Given the description of an element on the screen output the (x, y) to click on. 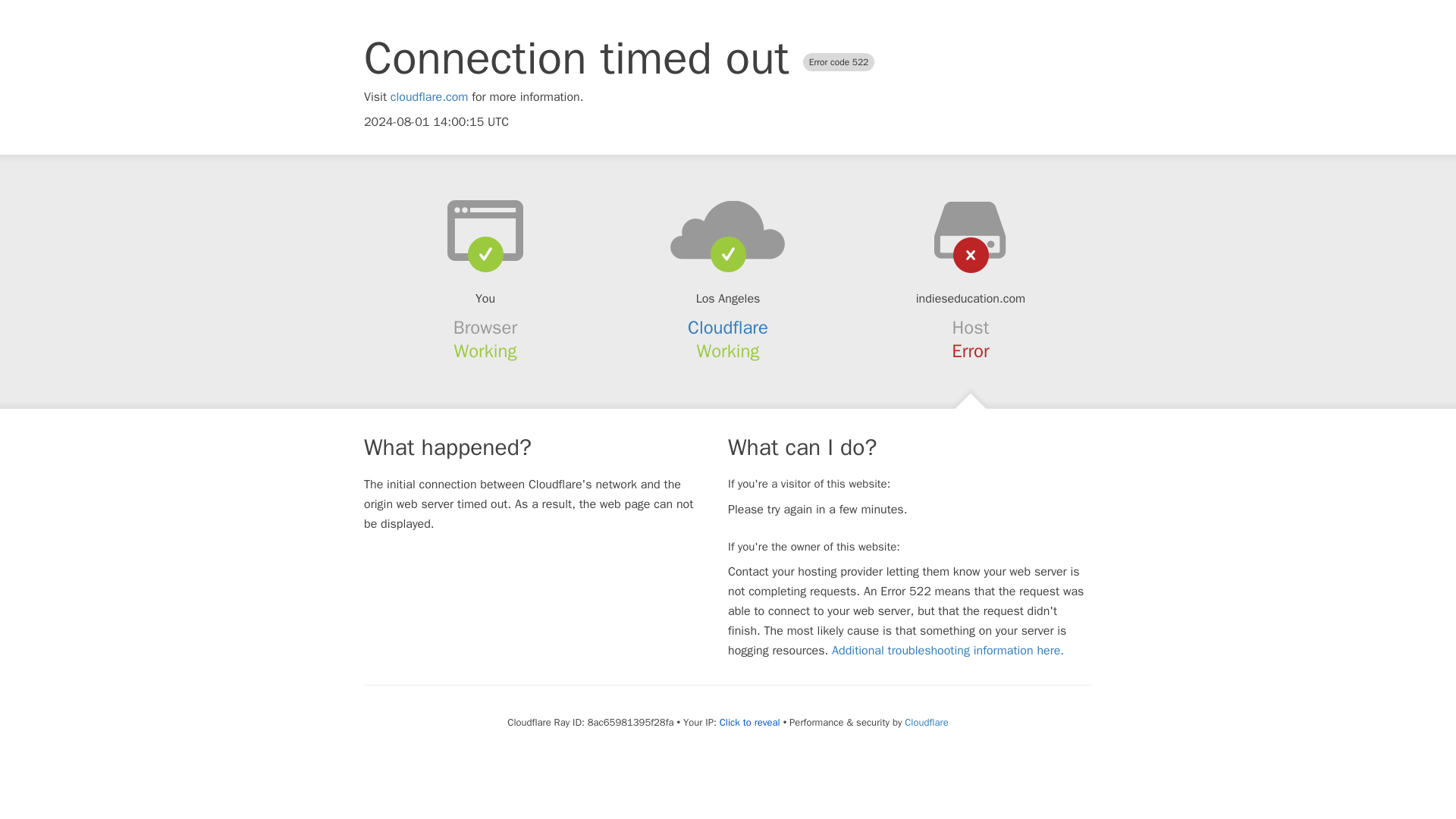
Click to reveal (749, 722)
Cloudflare (727, 327)
Additional troubleshooting information here. (947, 650)
cloudflare.com (429, 96)
Cloudflare (925, 721)
